Given the description of an element on the screen output the (x, y) to click on. 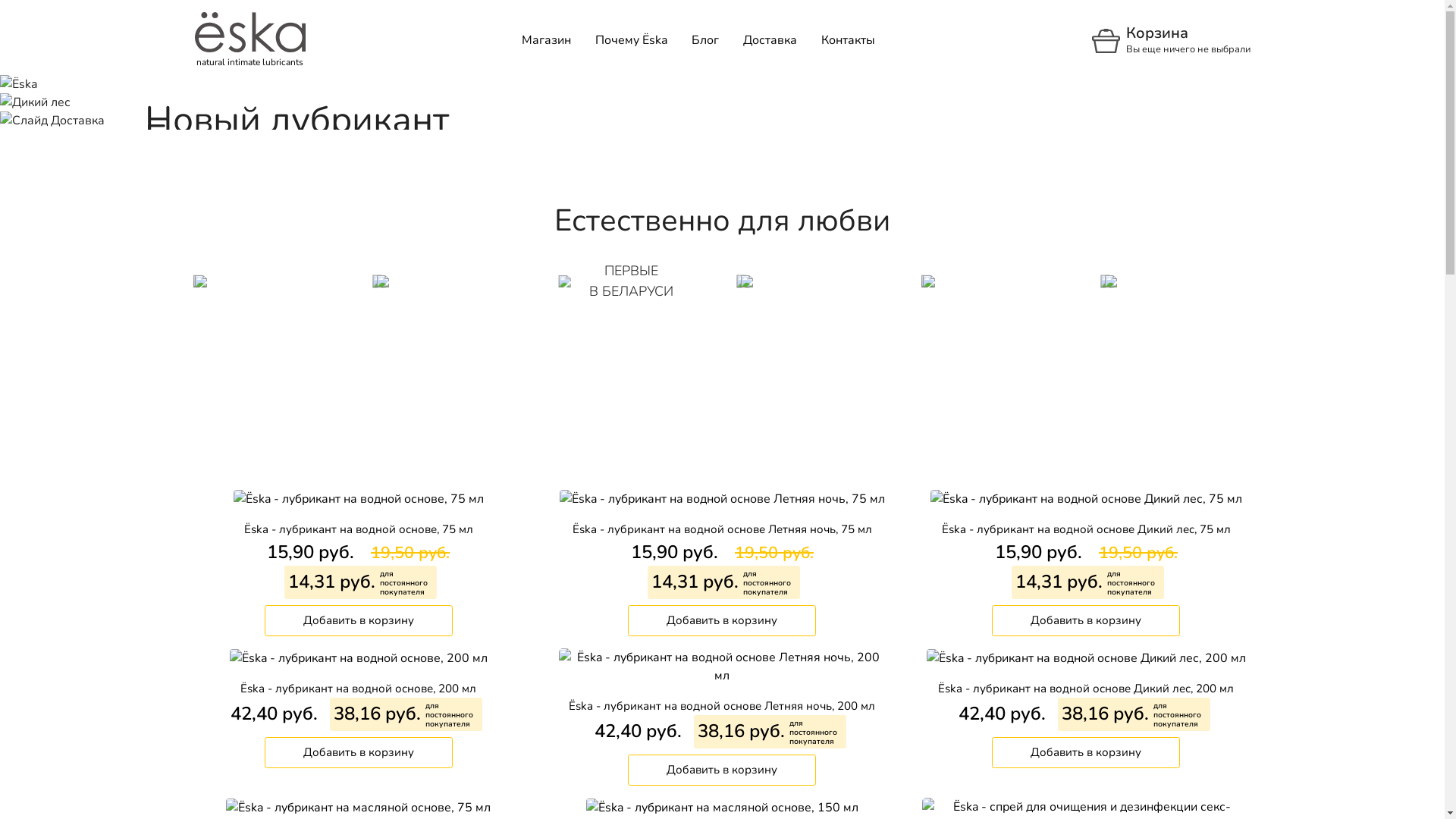
natural intimate lubricants Element type: hover (249, 32)
natural intimate lubricants Element type: text (249, 40)
